Given the description of an element on the screen output the (x, y) to click on. 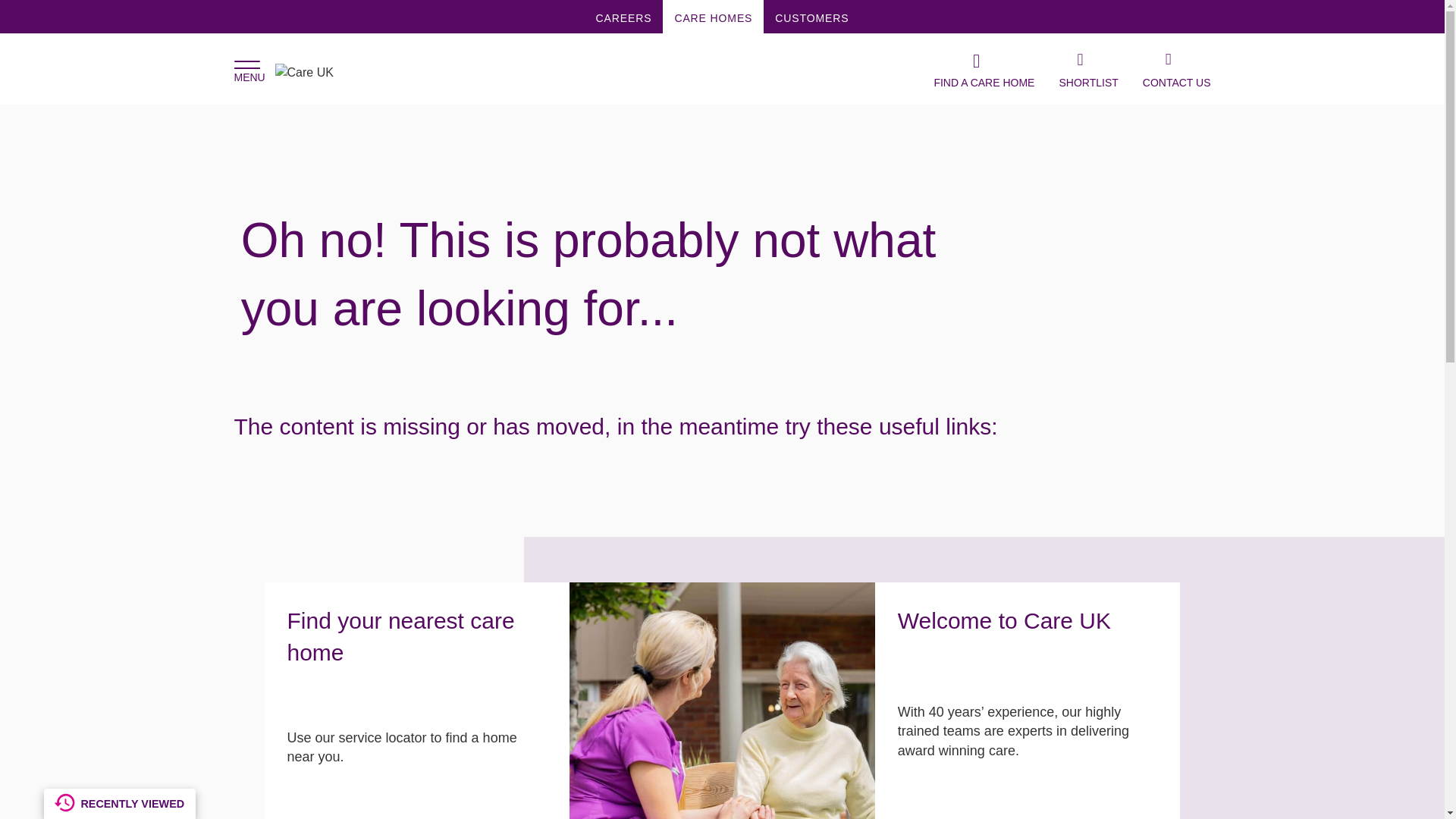
CONTACT US (1176, 68)
CUSTOMERS (811, 16)
FIND A CARE HOME (983, 68)
CARE HOMES (712, 16)
SHORTLIST (1088, 68)
CAREERS (624, 16)
